Given the description of an element on the screen output the (x, y) to click on. 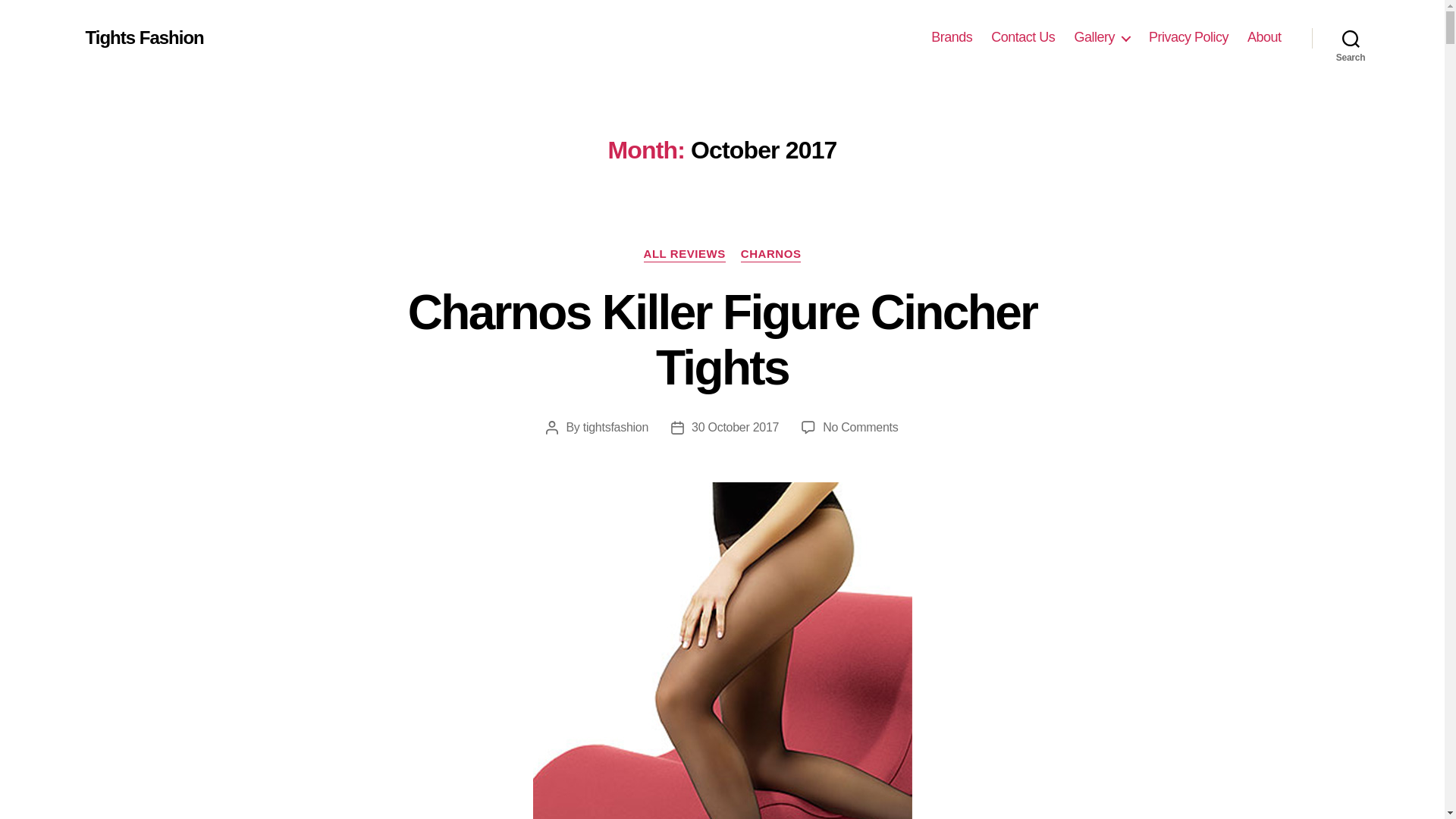
Gallery (1101, 37)
About (1264, 37)
Search (1350, 37)
Brands (951, 37)
Tights Fashion (143, 37)
Contact Us (1022, 37)
Privacy Policy (1188, 37)
